Given the description of an element on the screen output the (x, y) to click on. 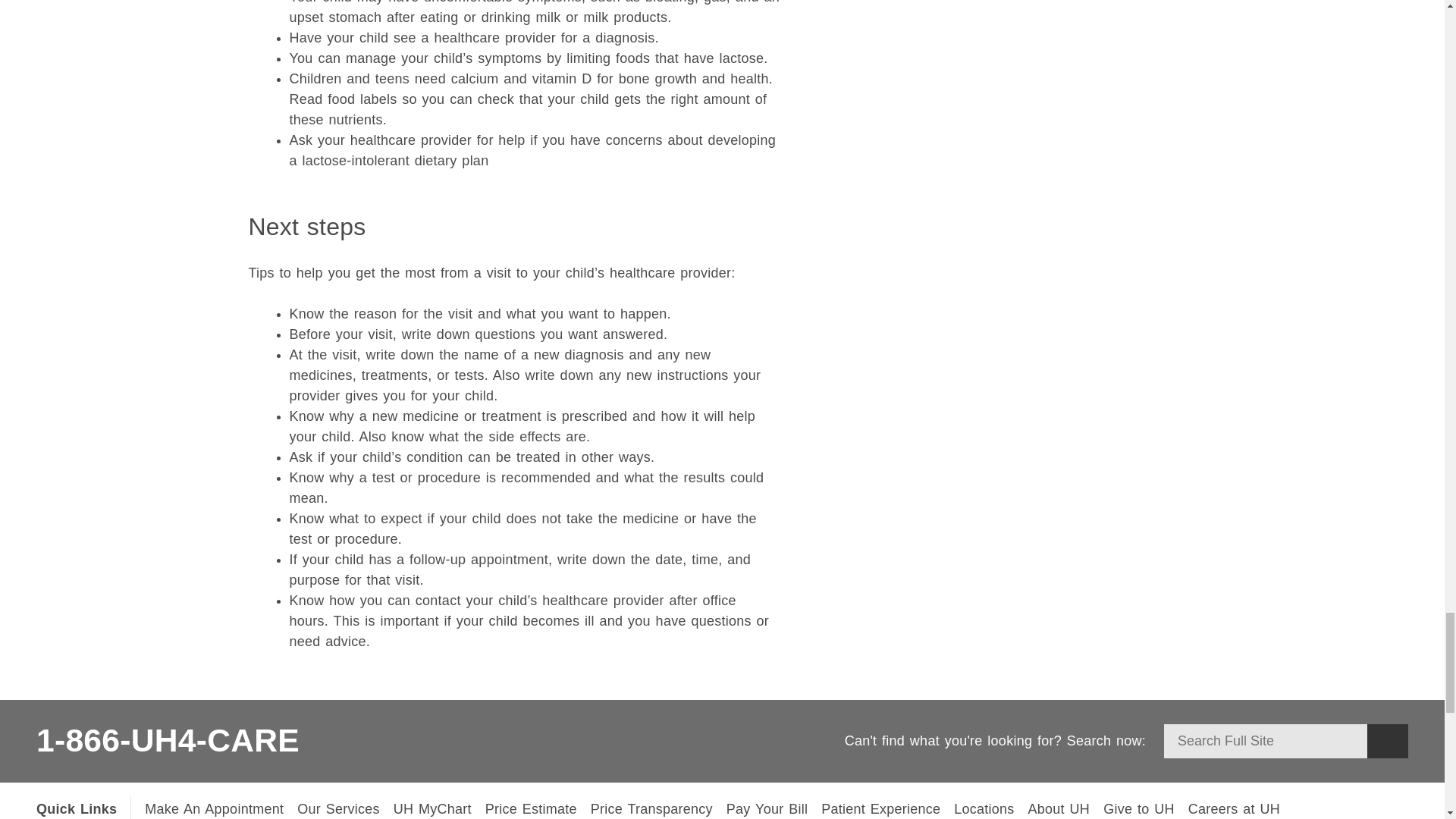
Search (1387, 740)
